Given the description of an element on the screen output the (x, y) to click on. 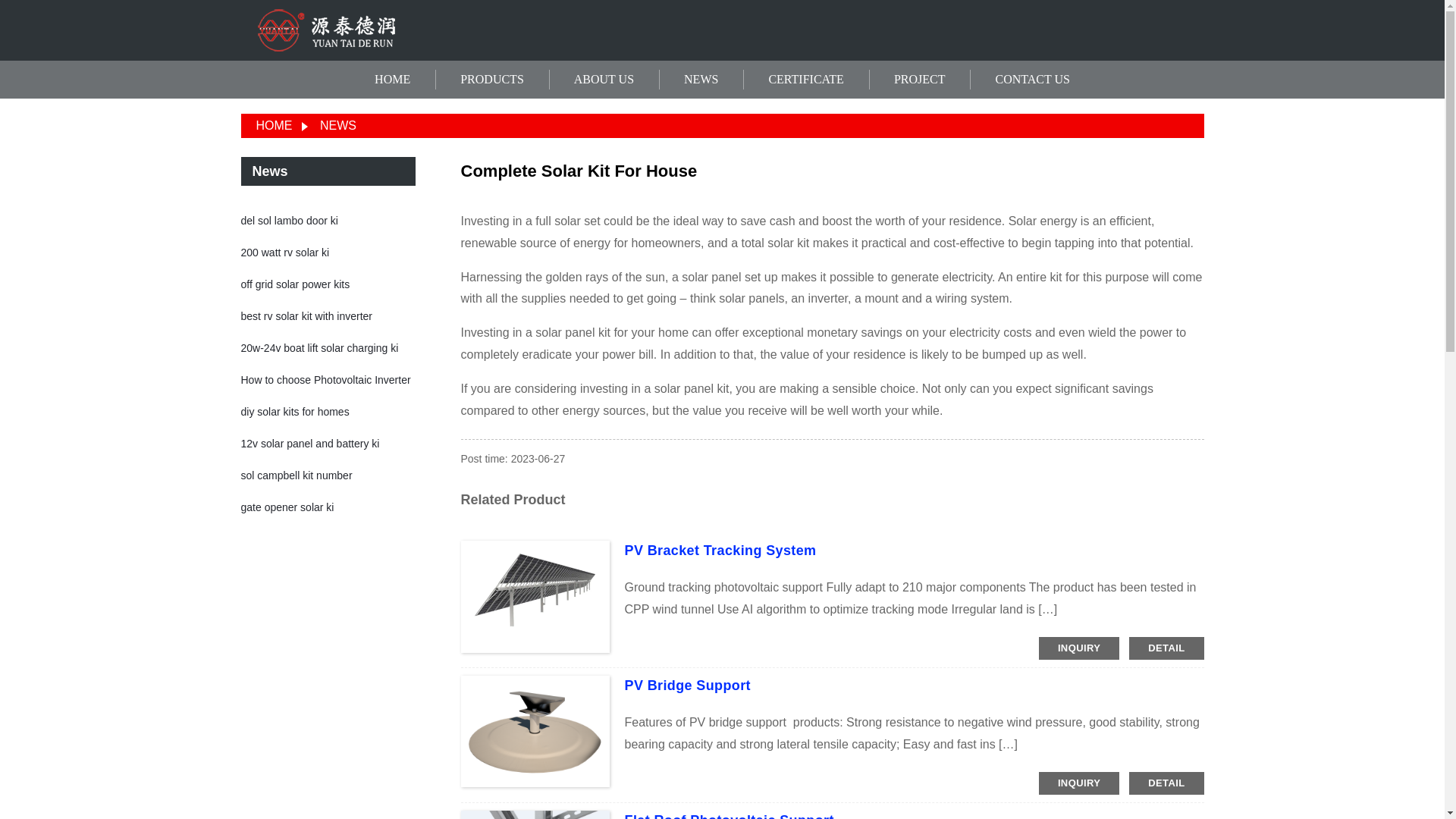
DETAIL (1166, 783)
off grid solar power kits (295, 284)
del sol lambo door ki (289, 220)
best rv solar kit with inverter (306, 316)
Flat roof photovoltaic support (729, 816)
best rv solar kit with inverter (306, 316)
HOME (274, 124)
sol campbell kit number (296, 475)
20w-24v boat lift solar charging ki (319, 347)
PRODUCTS (492, 79)
NEWS (338, 124)
off grid solar power kits (295, 284)
How to choose Photovoltaic Inverter (325, 379)
PV Bridge Support (687, 685)
NEWS (700, 79)
